Given the description of an element on the screen output the (x, y) to click on. 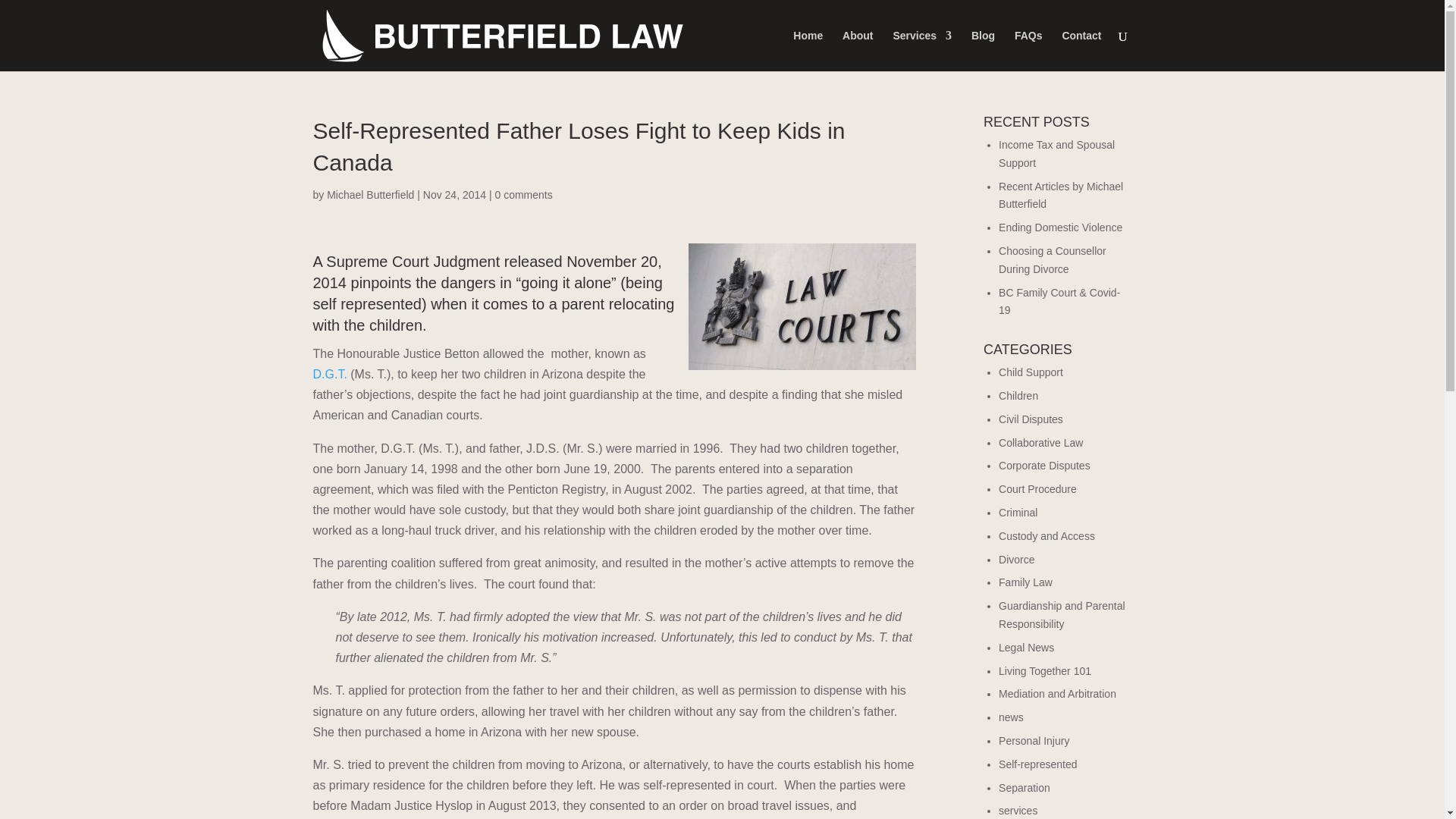
0 comments (523, 194)
Civil Disputes (1030, 419)
Children (1018, 395)
Choosing a Counsellor During Divorce (1052, 259)
D.G.T. (331, 373)
Collaborative Law (1040, 442)
Child Support (1030, 372)
Services (922, 50)
Posts by Michael Butterfield (369, 194)
Contact (1080, 50)
Michael Butterfield (369, 194)
Recent Articles by Michael Butterfield (1060, 195)
Corporate Disputes (1044, 465)
Ending Domestic Violence (1060, 227)
Income Tax and Spousal Support (1056, 153)
